Given the description of an element on the screen output the (x, y) to click on. 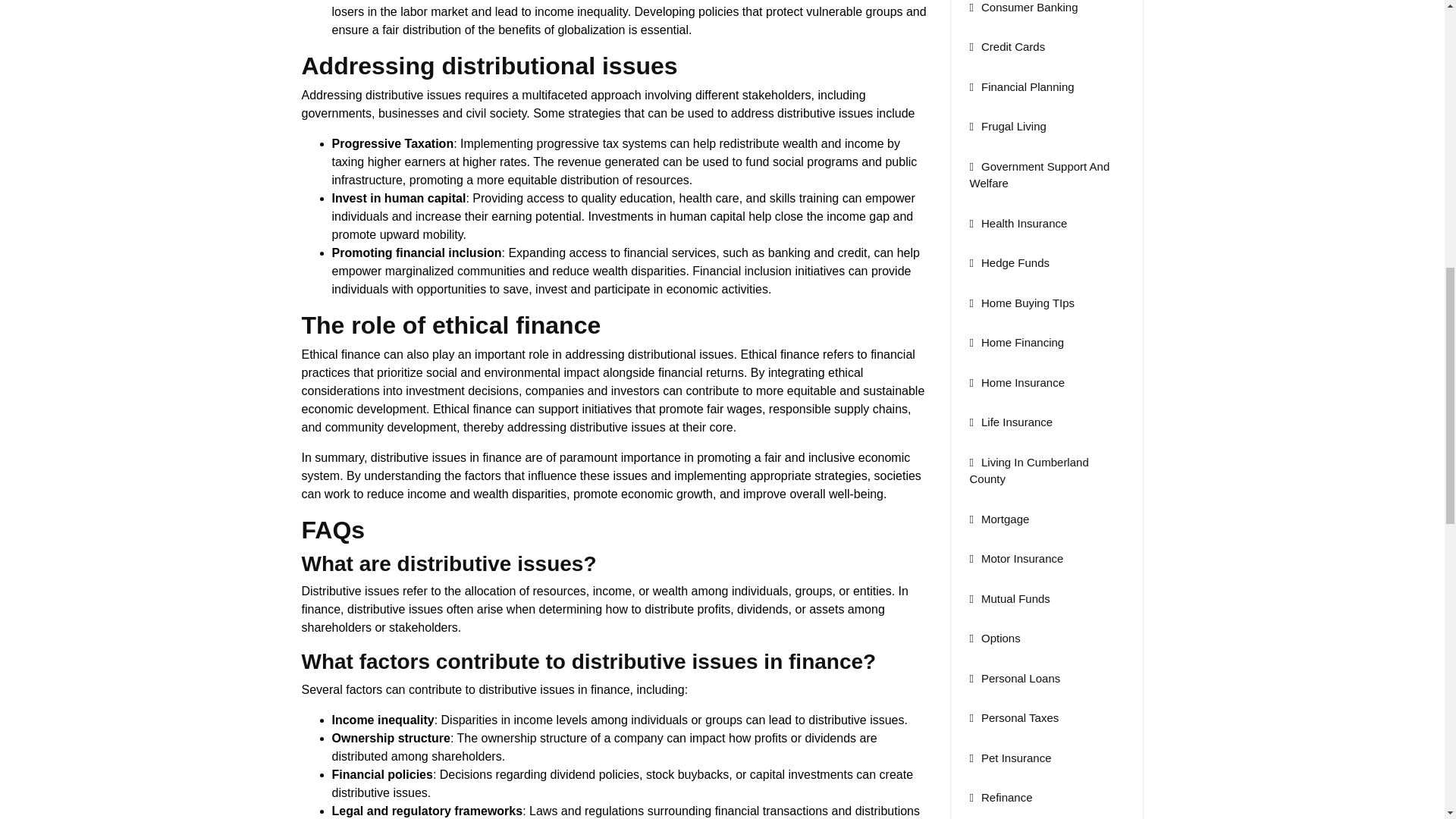
Home Insurance (1016, 382)
Frugal Living (1007, 125)
Consumer Banking (1023, 6)
Motor Insurance (1015, 558)
Hedge Funds (1009, 262)
Personal Taxes (1013, 717)
Living In Cumberland County (1028, 470)
Home Financing (1016, 341)
Health Insurance (1018, 223)
Financial Planning (1021, 86)
